Given the description of an element on the screen output the (x, y) to click on. 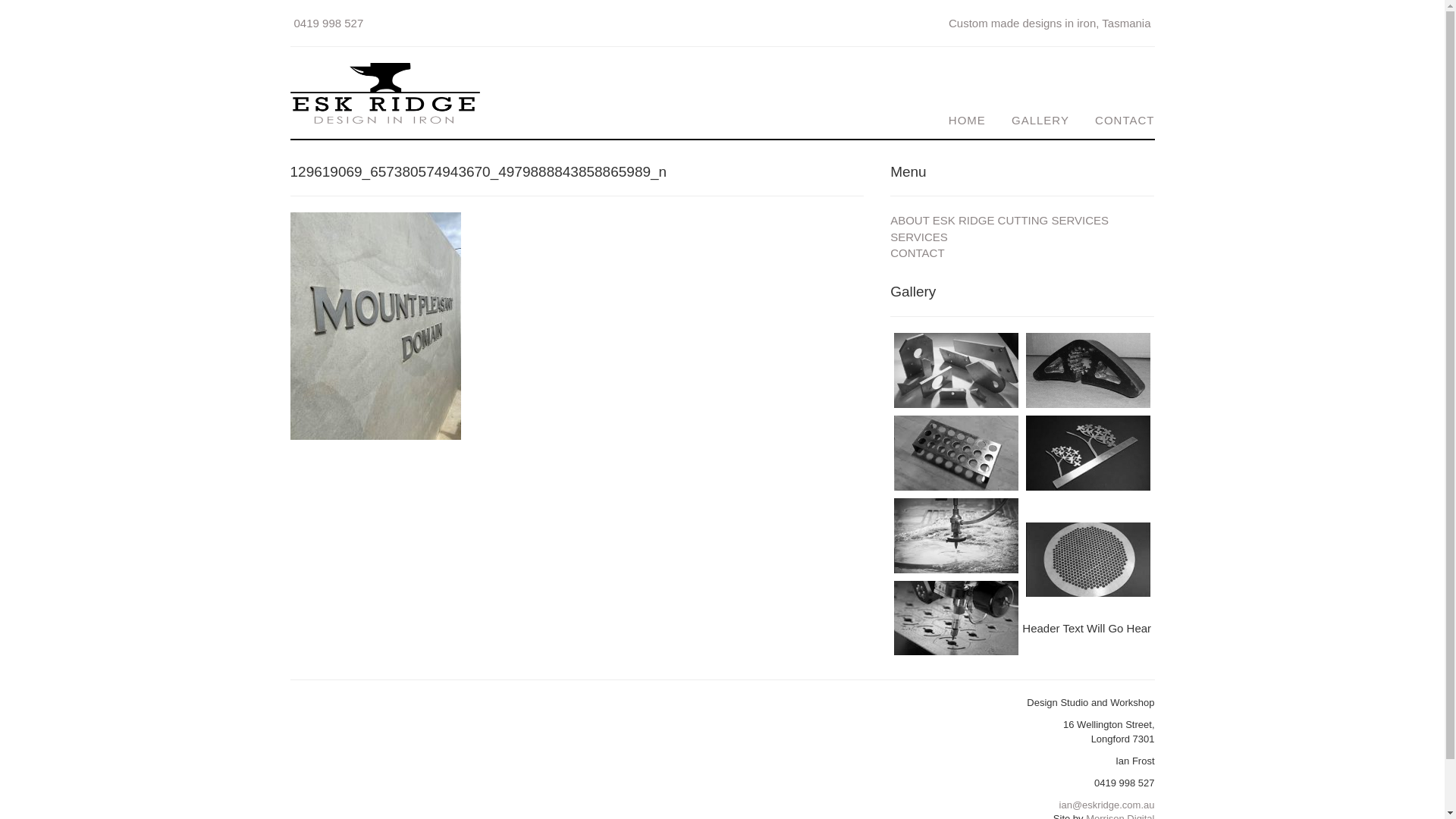
CONTACT Element type: text (1113, 120)
CONTACT Element type: text (917, 252)
ian@eskridge.com.au Element type: text (1106, 804)
GALLERY Element type: text (1028, 120)
ABOUT ESK RIDGE CUTTING SERVICES Element type: text (999, 219)
SERVICES Element type: text (918, 236)
HOME Element type: text (955, 120)
